Given the description of an element on the screen output the (x, y) to click on. 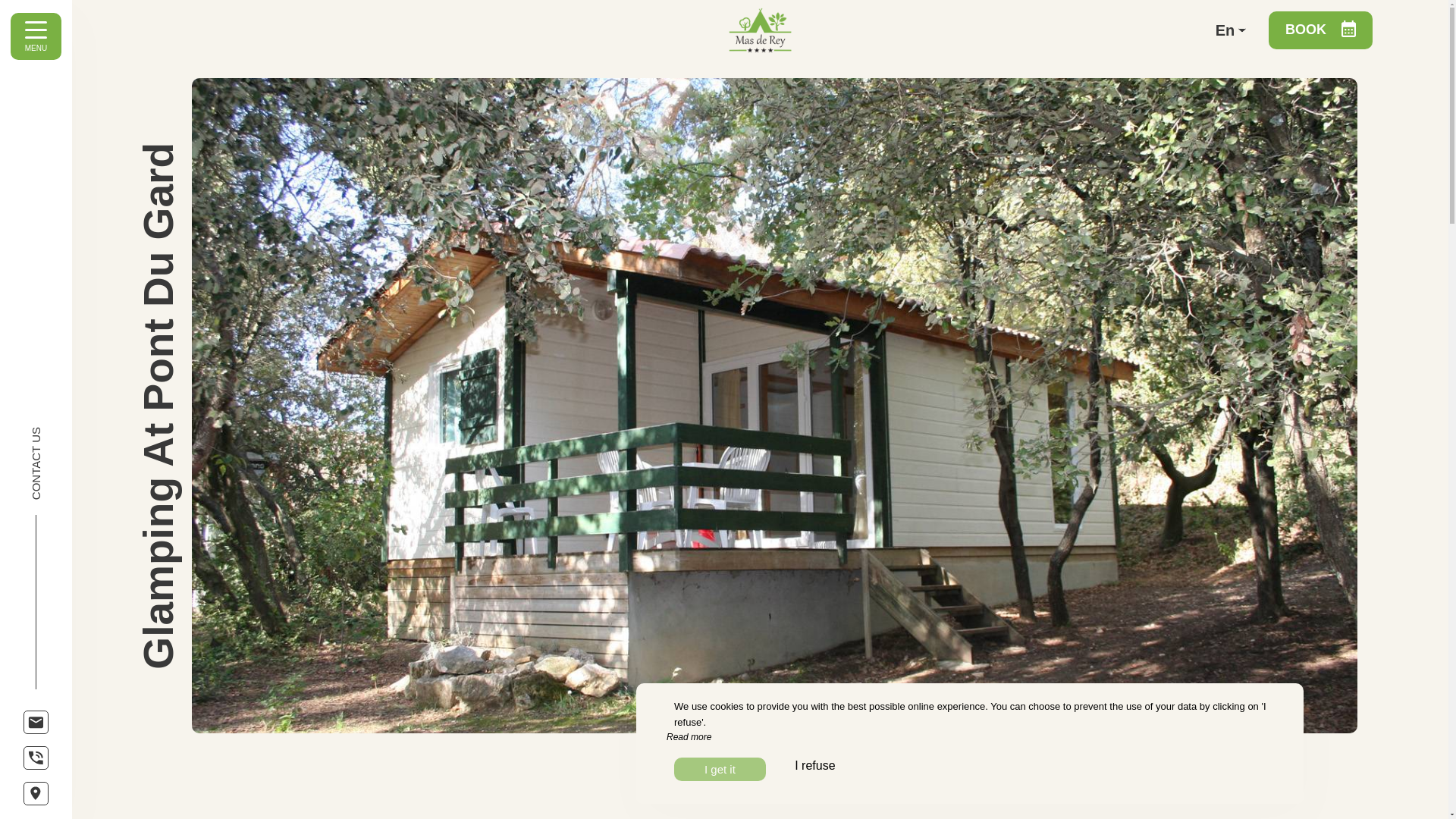
Glamping (667, 795)
4 stars (820, 795)
4 stars (820, 795)
BOOK (1320, 29)
Glamping (667, 795)
